Given the description of an element on the screen output the (x, y) to click on. 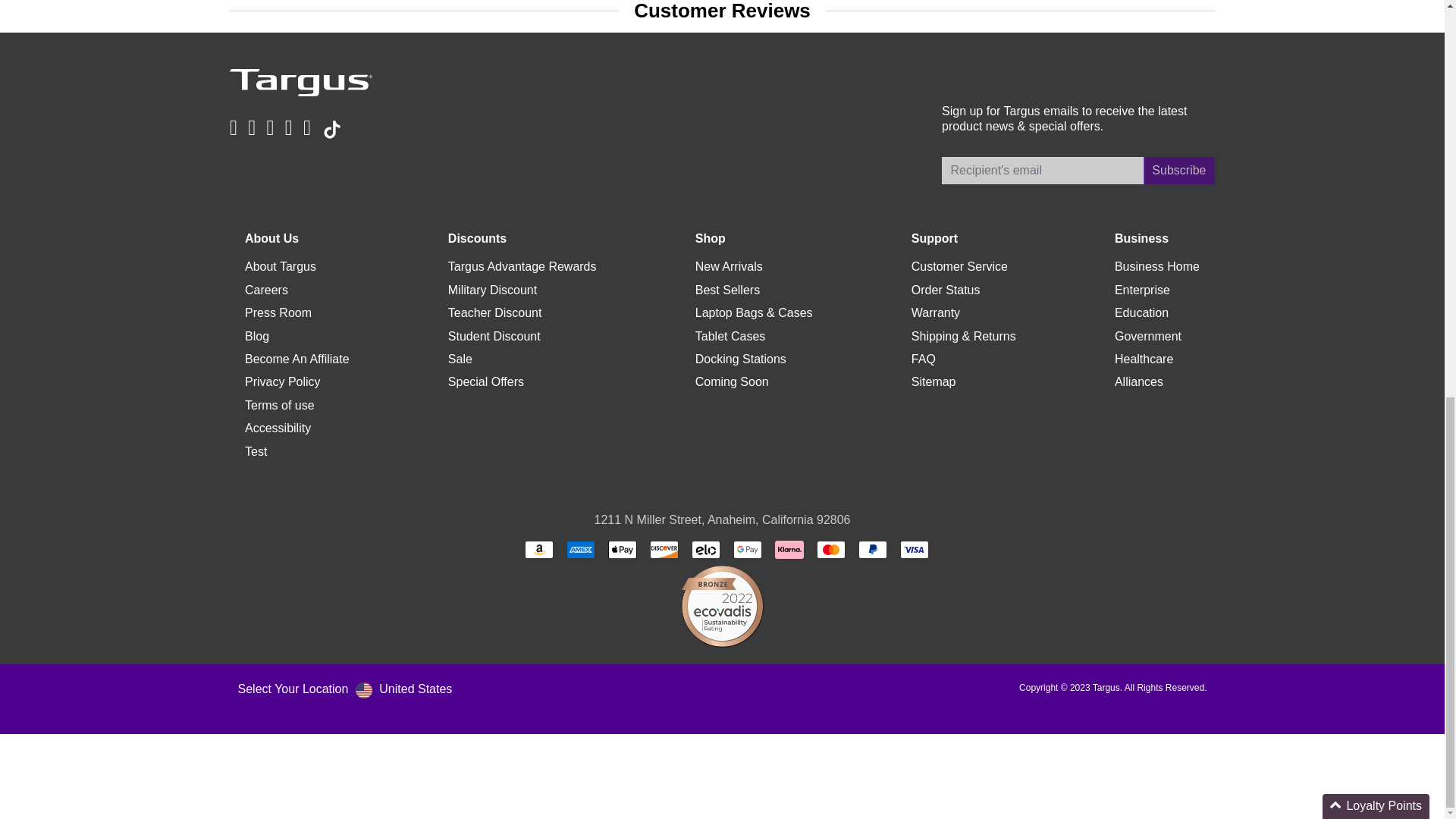
Amazon (538, 549)
PayPal (872, 549)
Google Pay (747, 549)
Apple Pay (622, 549)
Elo (705, 549)
Discover (663, 549)
American Express (580, 549)
Mastercard (830, 549)
Visa (913, 549)
Klarna (788, 549)
